Given the description of an element on the screen output the (x, y) to click on. 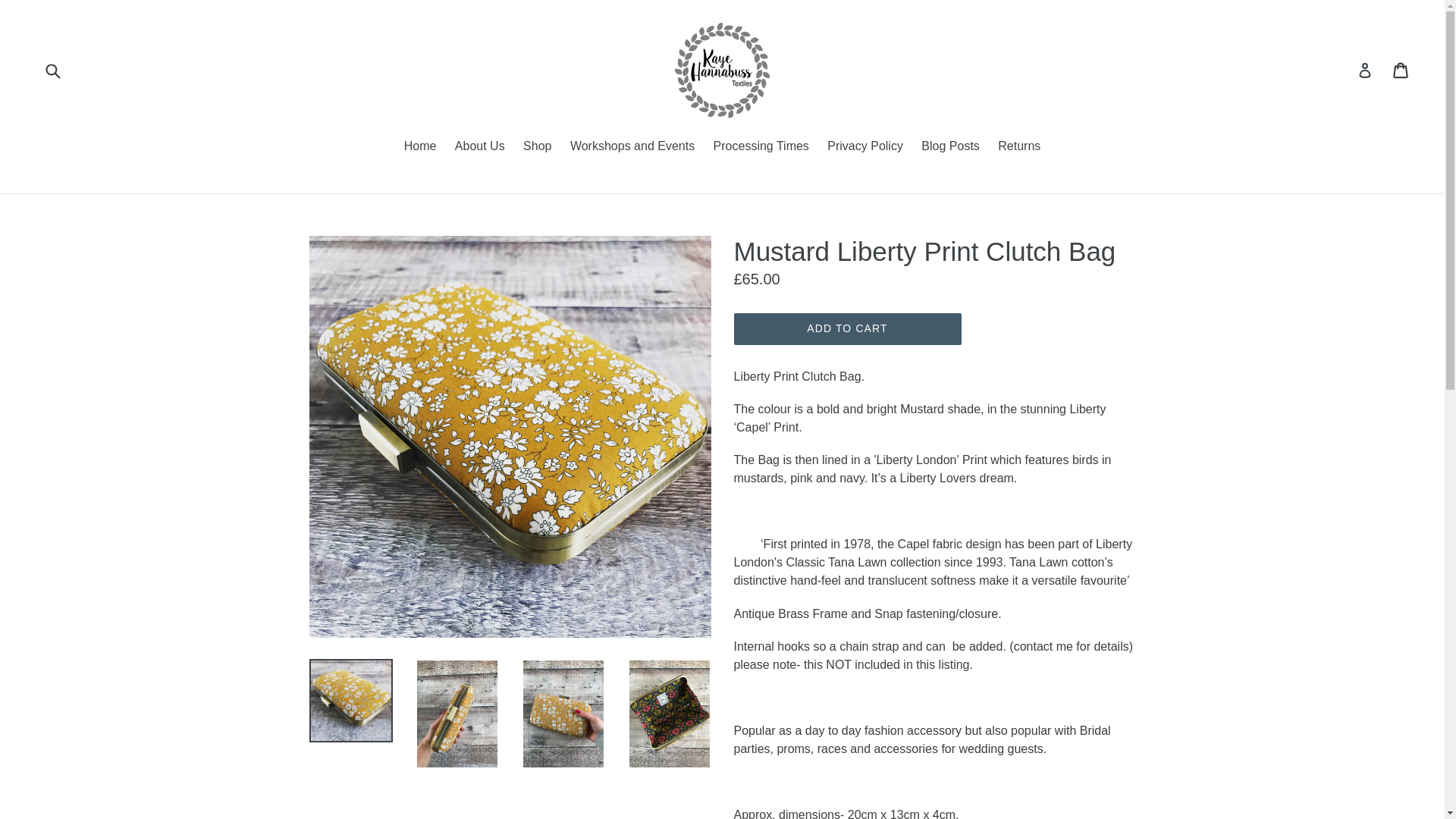
Shop (537, 147)
Returns (1019, 147)
Processing Times (761, 147)
ADD TO CART (846, 328)
Workshops and Events (631, 147)
Blog Posts (950, 147)
Privacy Policy (865, 147)
About Us (479, 147)
Home (420, 147)
